Given the description of an element on the screen output the (x, y) to click on. 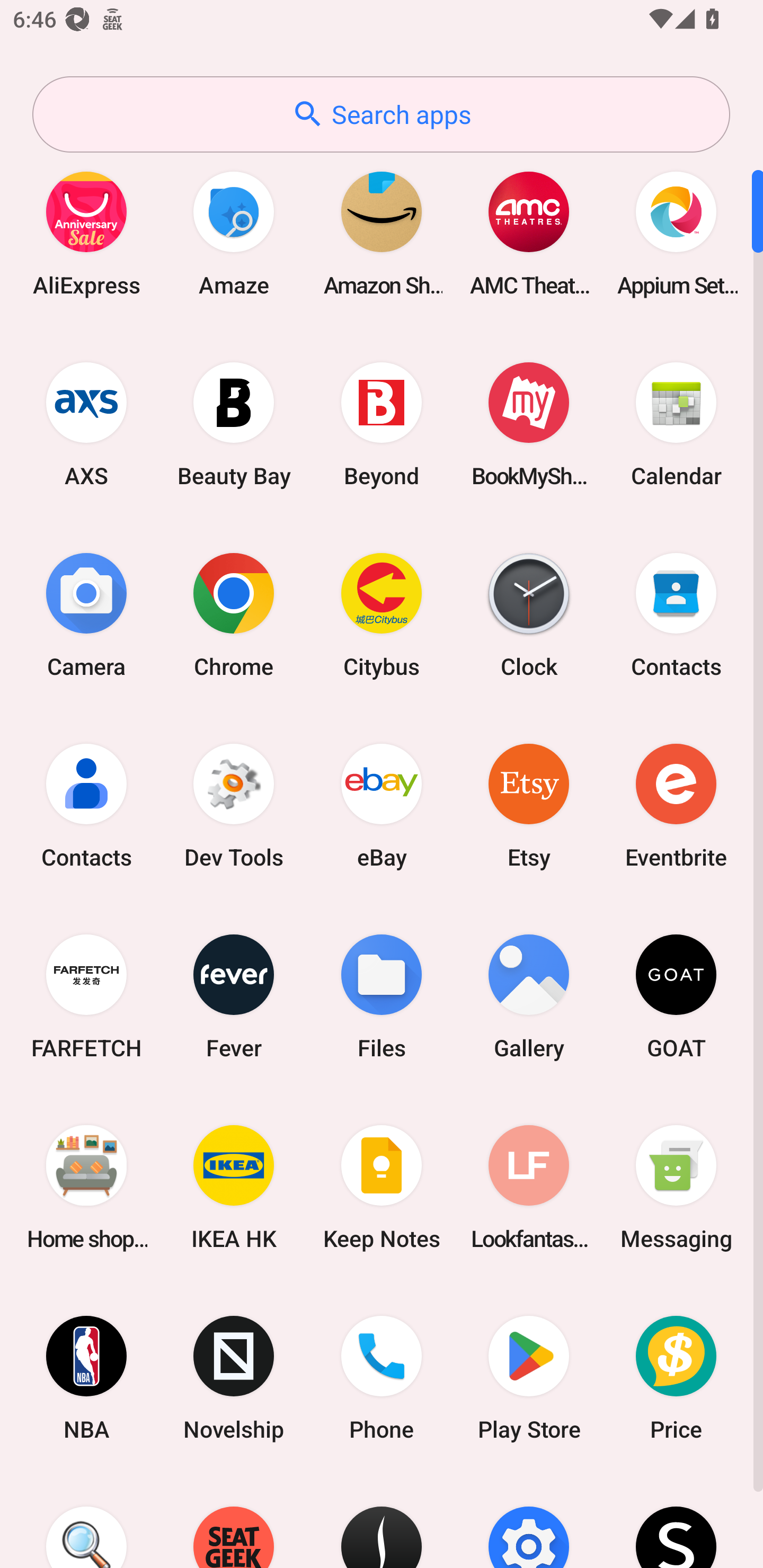
  Search apps (381, 114)
AliExpress (86, 233)
Amaze (233, 233)
Amazon Shopping (381, 233)
AMC Theatres (528, 233)
Appium Settings (676, 233)
AXS (86, 424)
Beauty Bay (233, 424)
Beyond (381, 424)
BookMyShow (528, 424)
Calendar (676, 424)
Camera (86, 614)
Chrome (233, 614)
Citybus (381, 614)
Clock (528, 614)
Contacts (676, 614)
Contacts (86, 805)
Dev Tools (233, 805)
eBay (381, 805)
Etsy (528, 805)
Eventbrite (676, 805)
FARFETCH (86, 996)
Fever (233, 996)
Files (381, 996)
Gallery (528, 996)
GOAT (676, 996)
Home shopping (86, 1186)
IKEA HK (233, 1186)
Keep Notes (381, 1186)
Lookfantastic (528, 1186)
Messaging (676, 1186)
NBA (86, 1377)
Novelship (233, 1377)
Phone (381, 1377)
Play Store (528, 1377)
Price (676, 1377)
